Given the description of an element on the screen output the (x, y) to click on. 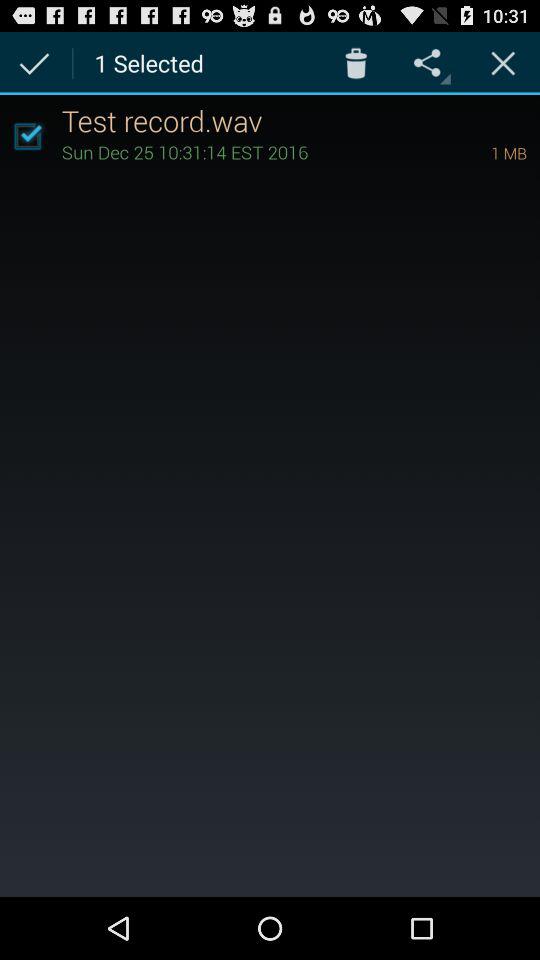
launch icon below test record.wav icon (248, 151)
